Given the description of an element on the screen output the (x, y) to click on. 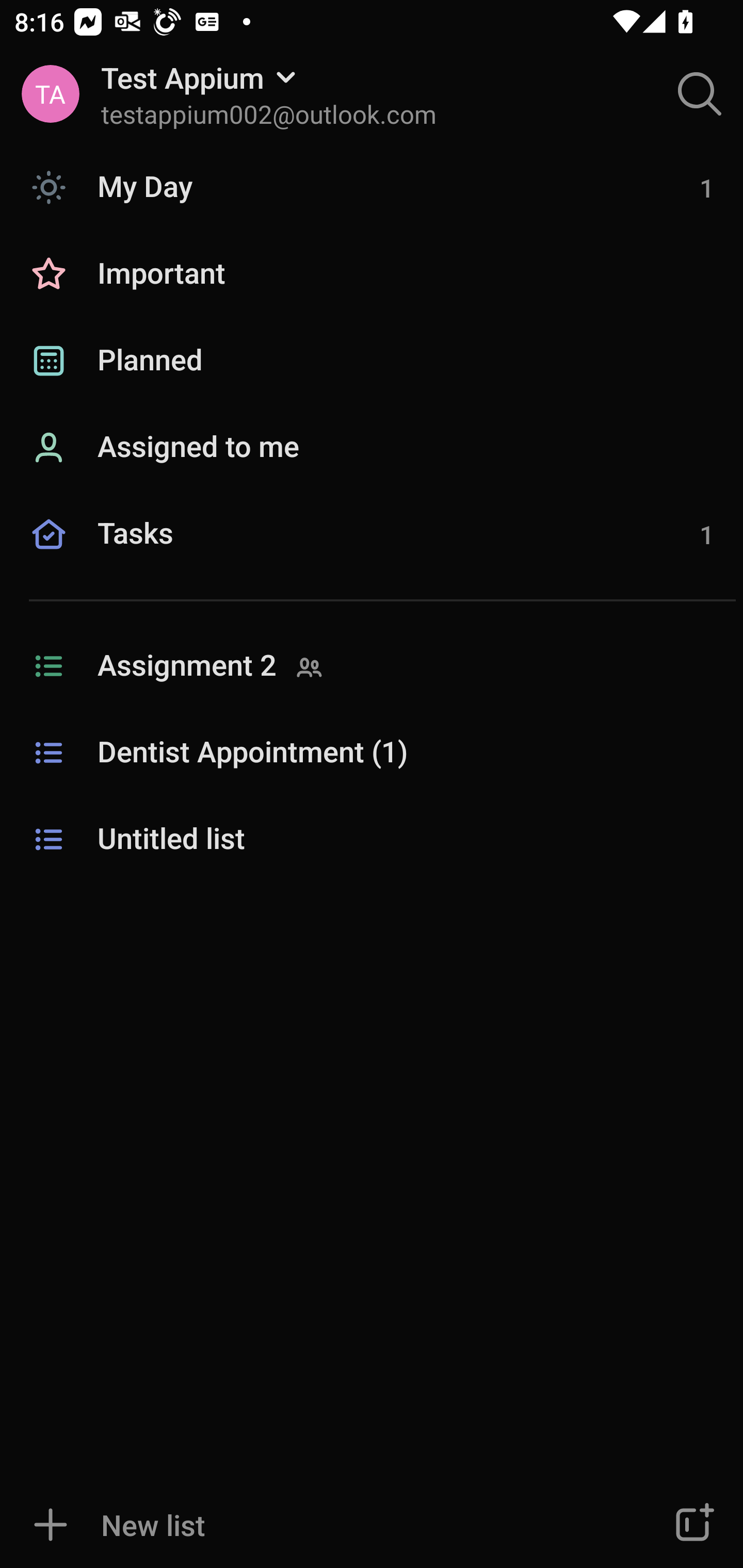
Enter search (699, 93)
My Day, 1 tasks My Day 1 (371, 187)
Important, 0 tasks Important (371, 274)
Planned, 0 tasks Planned (371, 361)
Assigned to me, 0 tasks Assigned to me (371, 447)
Tasks, 1 tasks Tasks 1 (371, 556)
Shared list. Assignment 2 Assignment 2 Shared list (371, 666)
Dentist Appointment (1) (371, 753)
Untitled list (371, 839)
New list (312, 1524)
Create group (692, 1524)
